Given the description of an element on the screen output the (x, y) to click on. 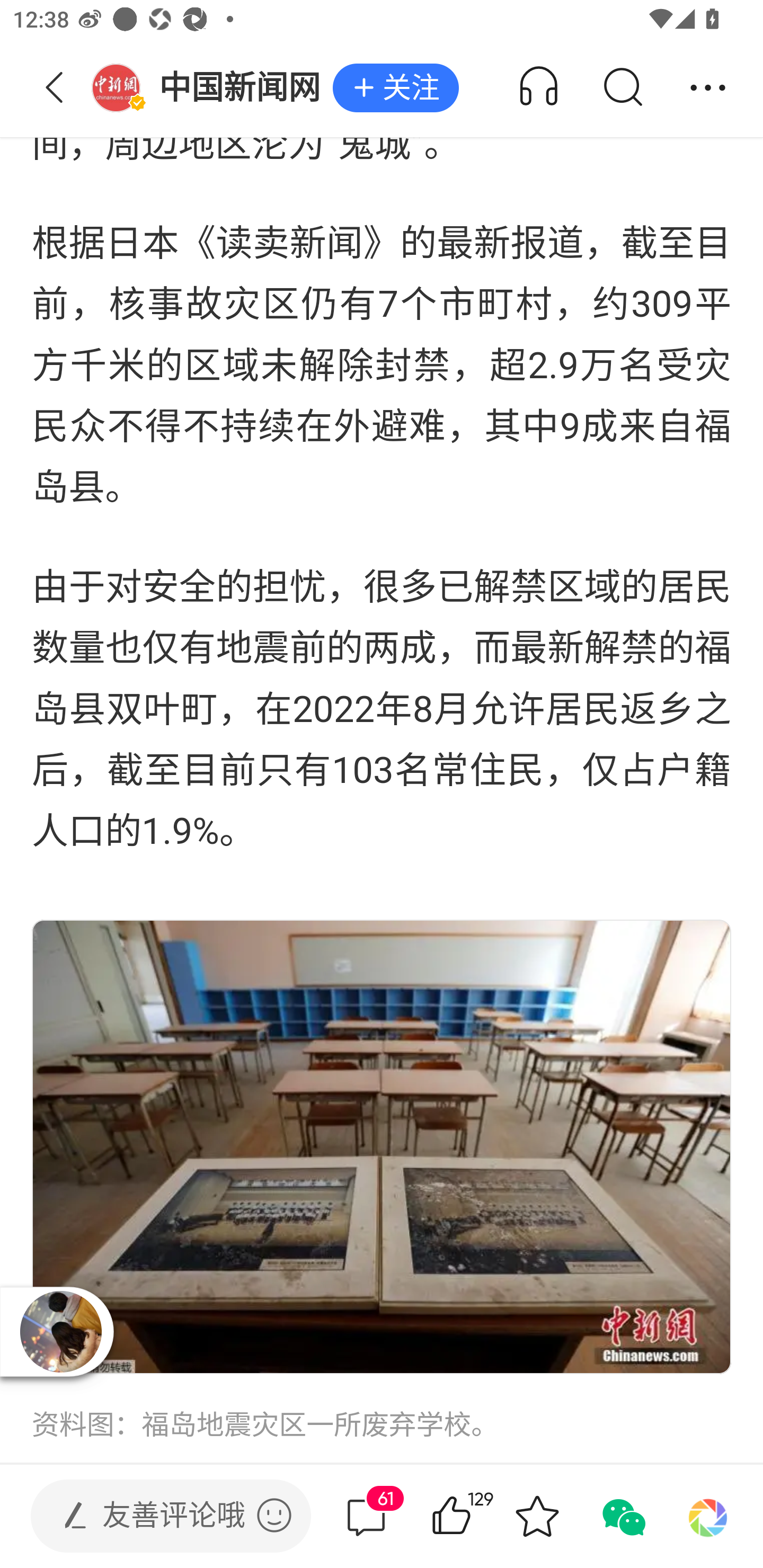
中国新闻网 (211, 87)
搜索  (622, 87)
分享  (707, 87)
 返回 (54, 87)
 关注 (395, 88)
新闻图片 (381, 1145)
播放器 (60, 1331)
发表评论  友善评论哦 发表评论  (155, 1516)
61评论  61 评论 (365, 1516)
129赞 (476, 1516)
收藏  (536, 1516)
分享到微信  (622, 1516)
分享到朋友圈 (707, 1516)
 (274, 1515)
